Given the description of an element on the screen output the (x, y) to click on. 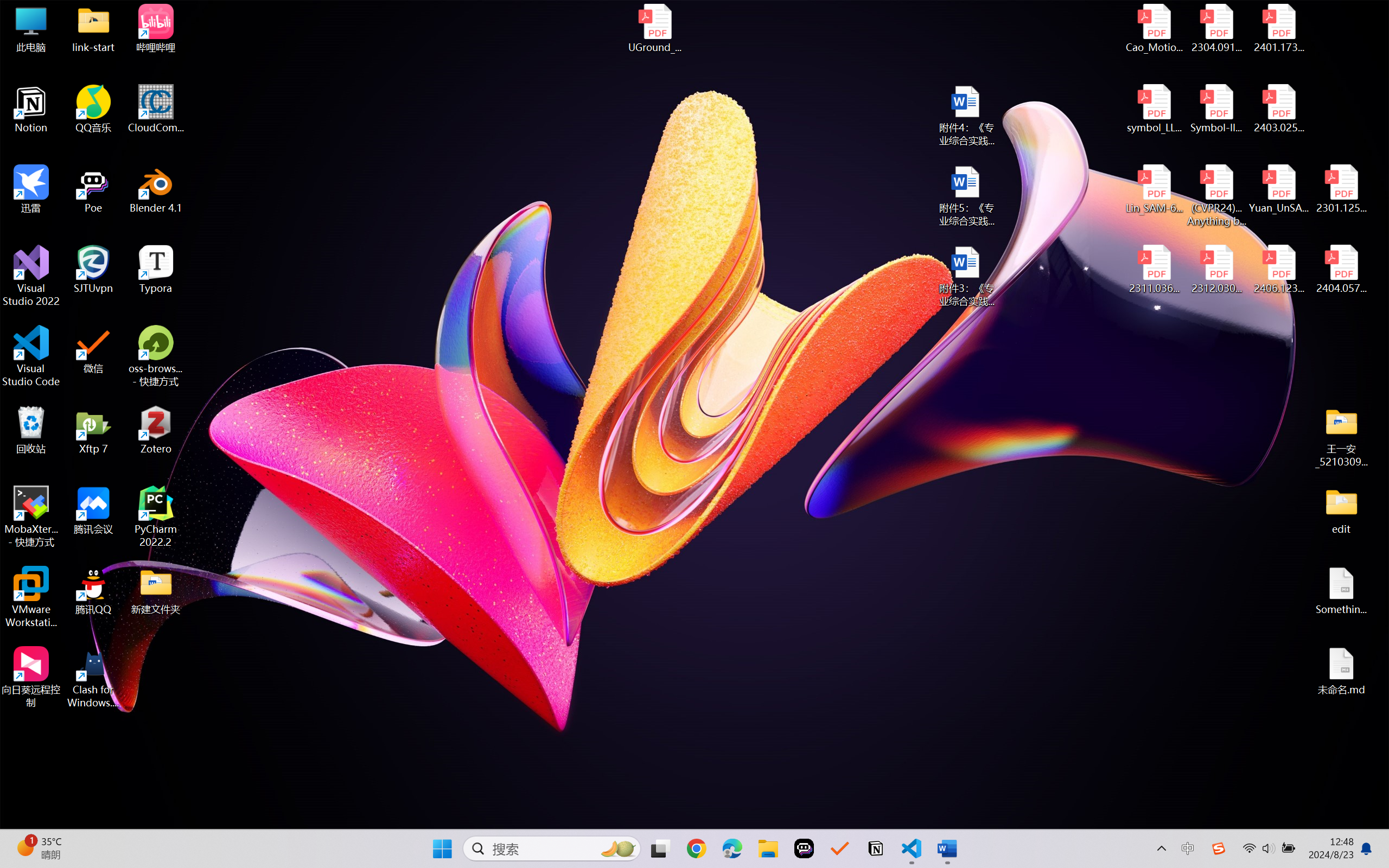
VMware Workstation Pro (31, 597)
PyCharm 2022.2 (156, 516)
2301.12597v3.pdf (1340, 189)
